Given the description of an element on the screen output the (x, y) to click on. 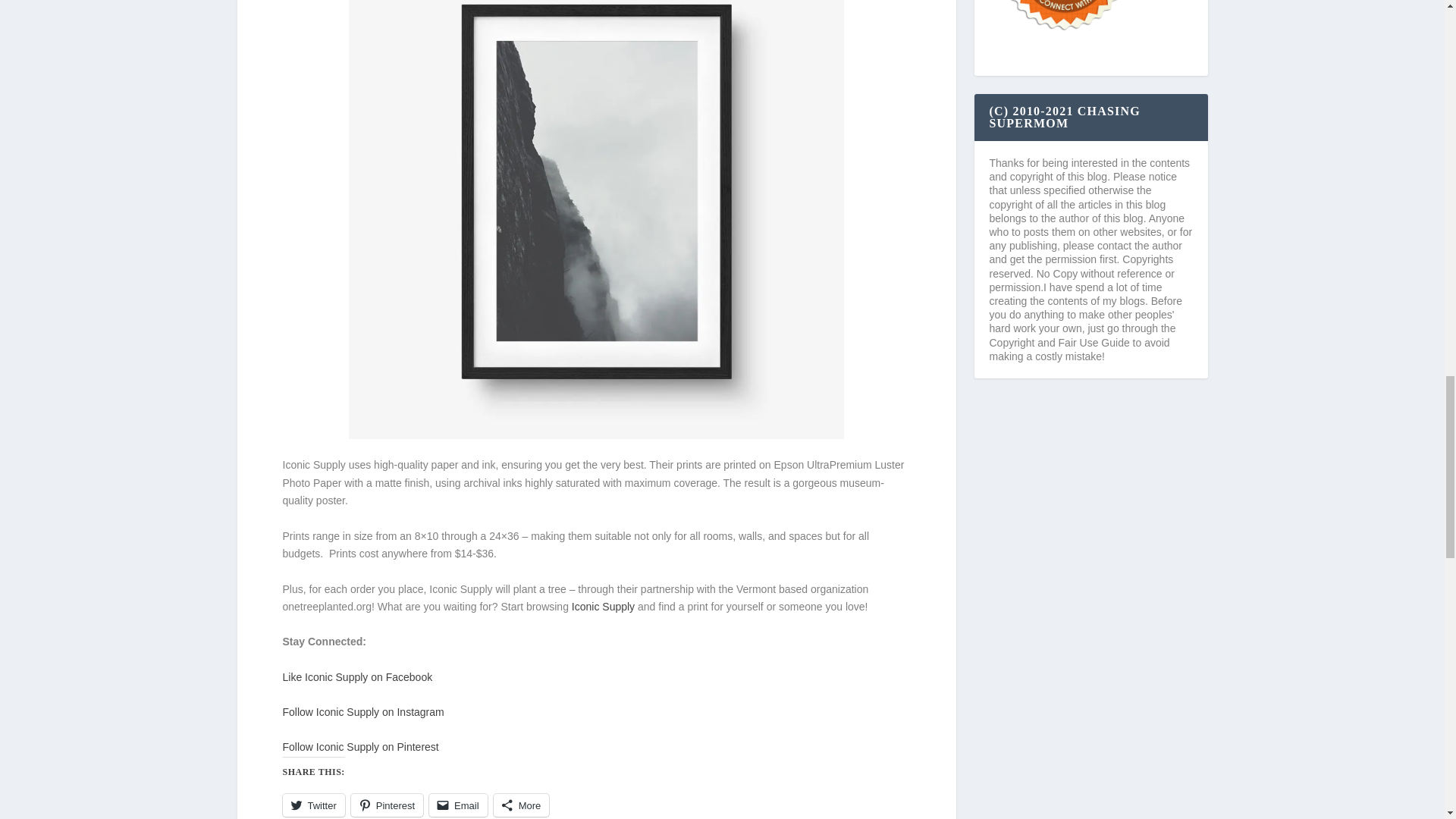
Click to share on Twitter (312, 804)
Click to share on Pinterest (386, 804)
Click to email a link to a friend (458, 804)
